Given the description of an element on the screen output the (x, y) to click on. 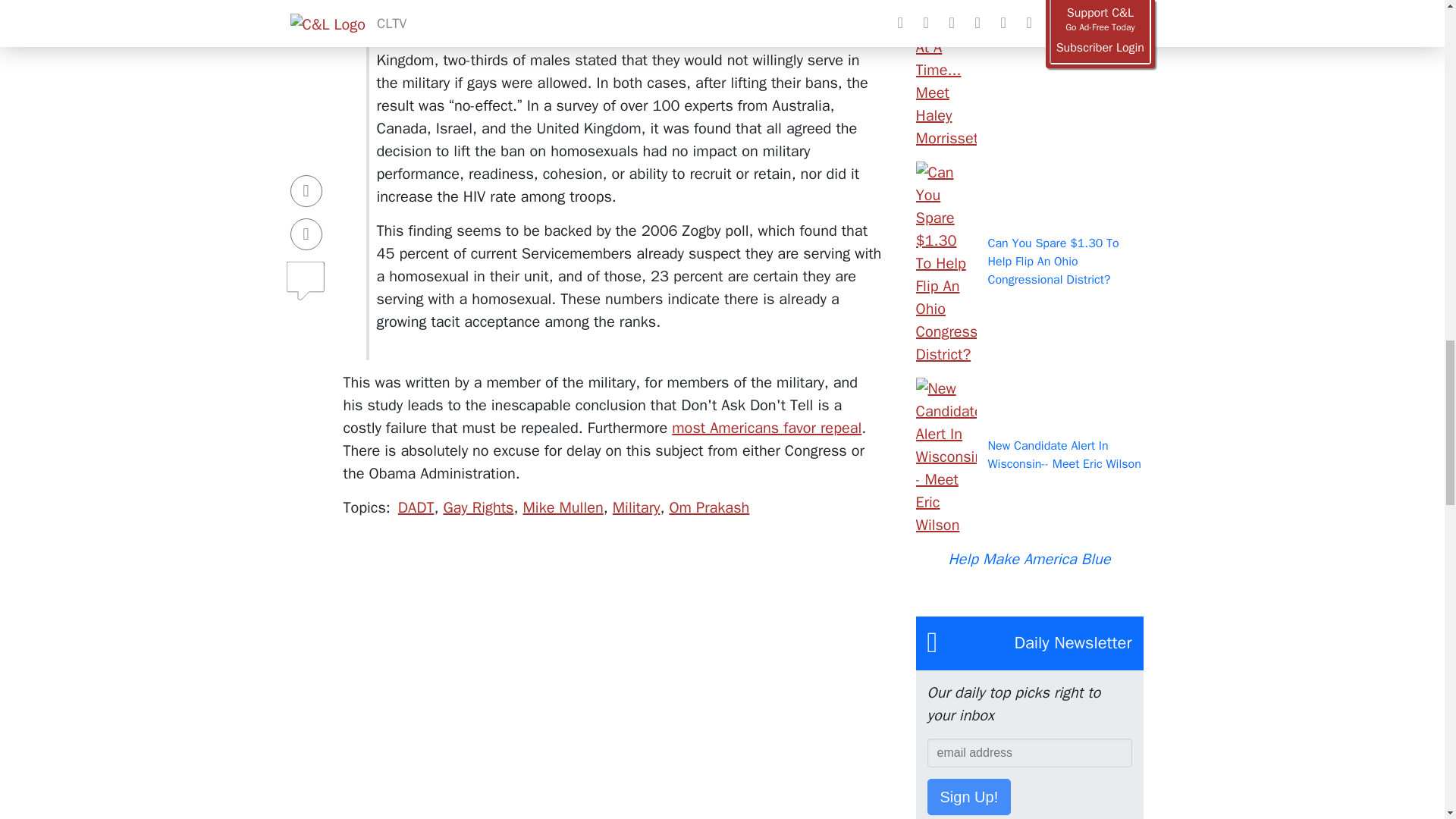
Om Prakash (708, 506)
Gay Rights (477, 506)
DADT (415, 506)
Military (636, 506)
most Americans favor repeal (766, 427)
Mike Mullen (562, 506)
